Given the description of an element on the screen output the (x, y) to click on. 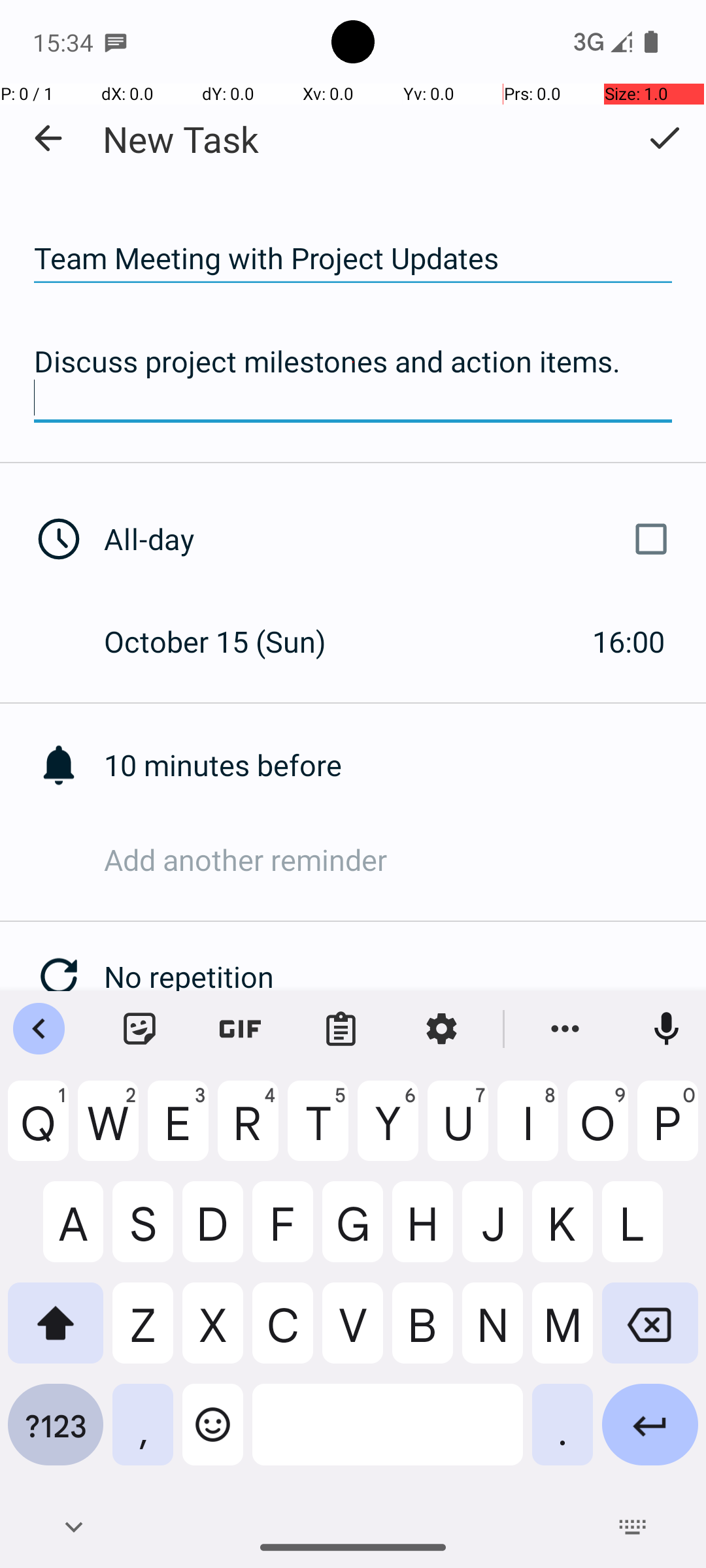
New Task Element type: android.widget.TextView (180, 138)
Team Meeting with Project Updates Element type: android.widget.EditText (352, 258)
Discuss project milestones and action items.
 Element type: android.widget.EditText (352, 379)
16:00 Element type: android.widget.TextView (628, 640)
10 minutes before Element type: android.widget.TextView (404, 764)
Add another reminder Element type: android.widget.TextView (404, 859)
No repetition Element type: android.widget.TextView (404, 976)
